Given the description of an element on the screen output the (x, y) to click on. 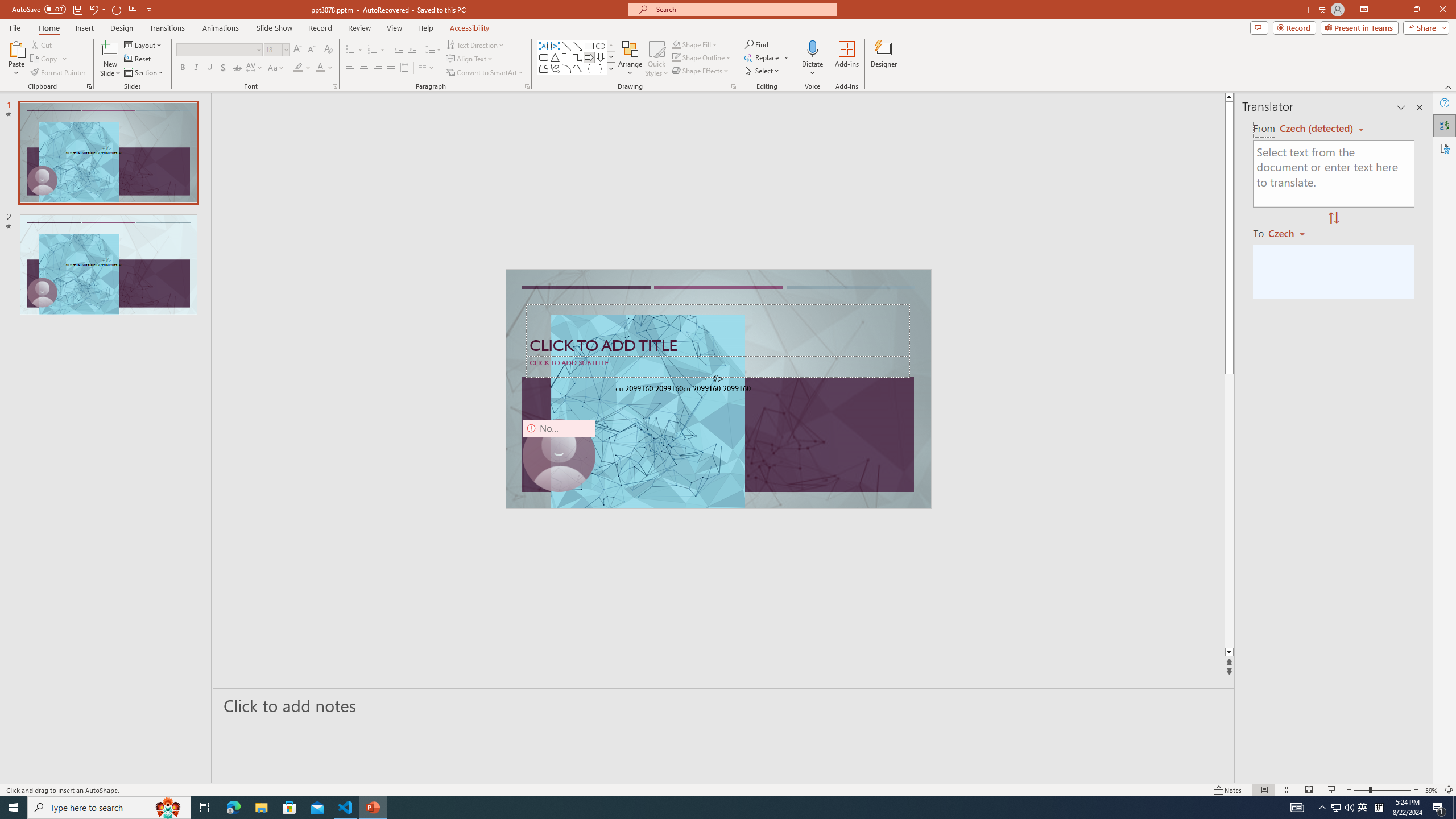
Camera 9, No camera detected. (558, 455)
